Given the description of an element on the screen output the (x, y) to click on. 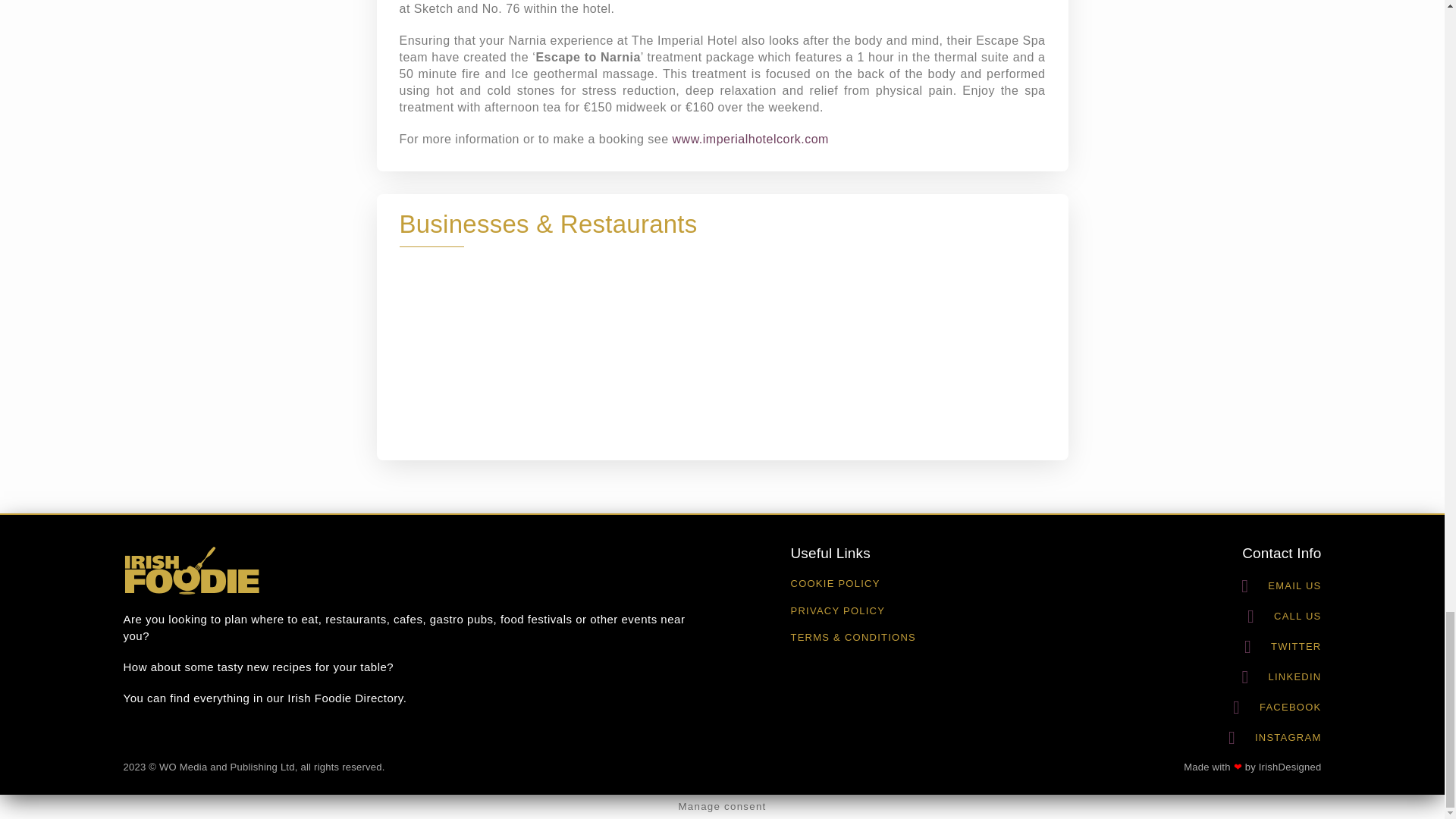
www.imperialhotelcork.com (750, 138)
